Given the description of an element on the screen output the (x, y) to click on. 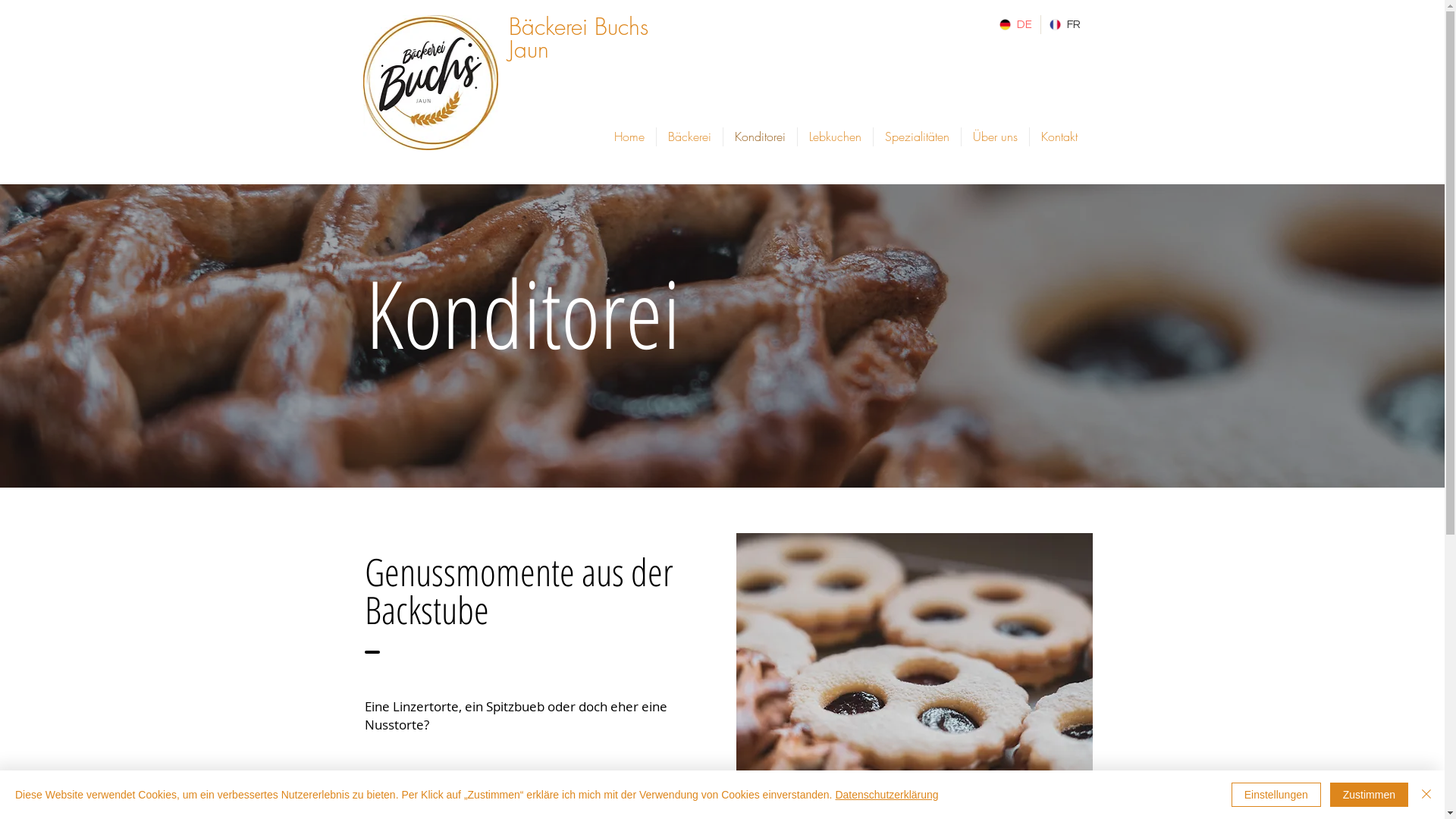
Lebkuchen Element type: text (834, 136)
DE Element type: text (1014, 24)
Zustimmen Element type: text (1369, 794)
Konditorei Element type: text (760, 136)
Kontakt Element type: text (1058, 136)
Home Element type: text (628, 136)
FR Element type: text (1064, 24)
Einstellungen Element type: text (1276, 794)
